Given the description of an element on the screen output the (x, y) to click on. 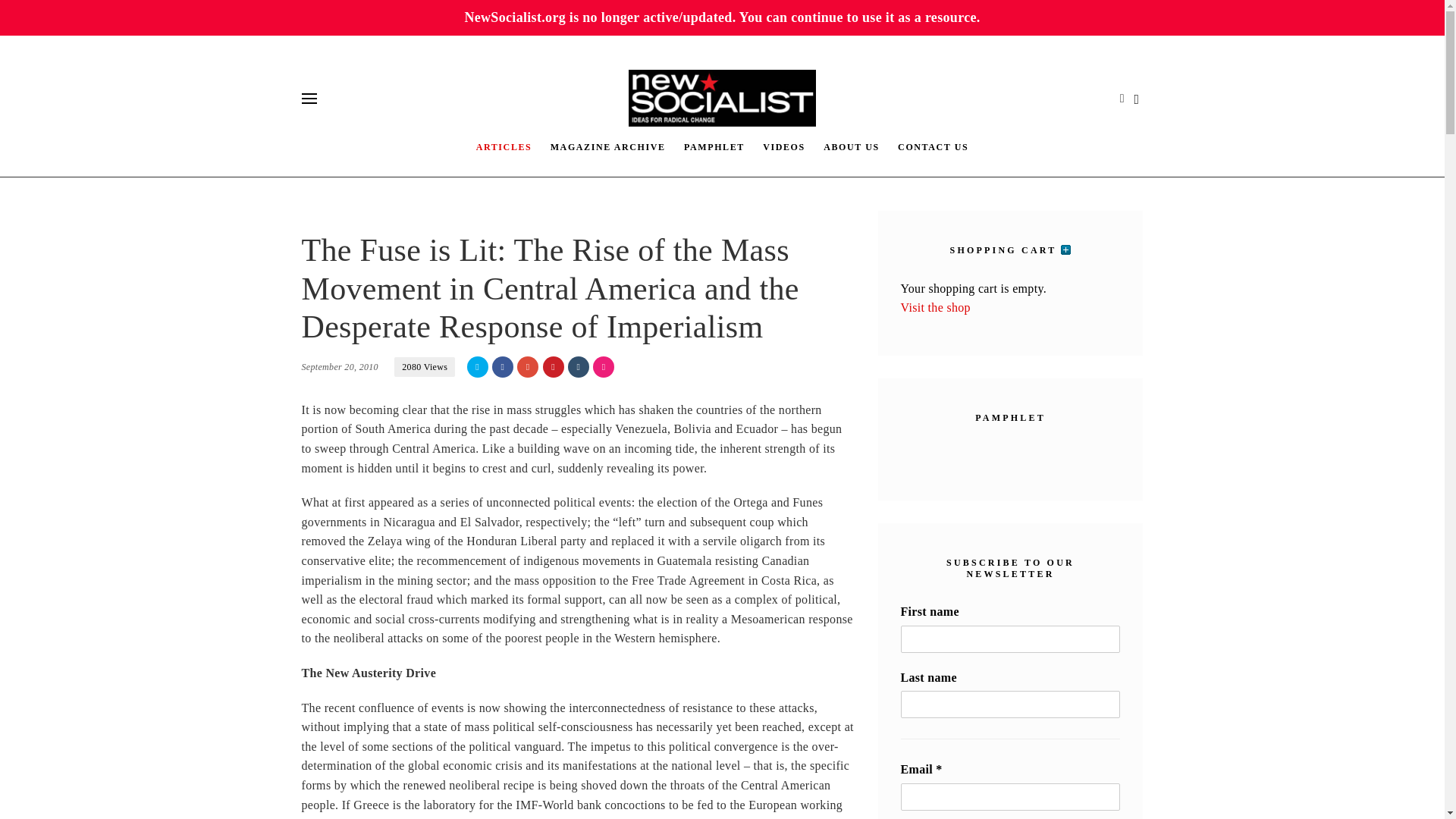
New Socialist (722, 97)
ARTICLES (504, 145)
CONTACT US (932, 145)
MAGAZINE ARCHIVE (607, 145)
VIDEOS (783, 145)
Email (1011, 796)
ABOUT US (850, 145)
Last name (1011, 704)
First name (1011, 638)
Visit Shop (936, 307)
PAMPHLET (714, 145)
